Given the description of an element on the screen output the (x, y) to click on. 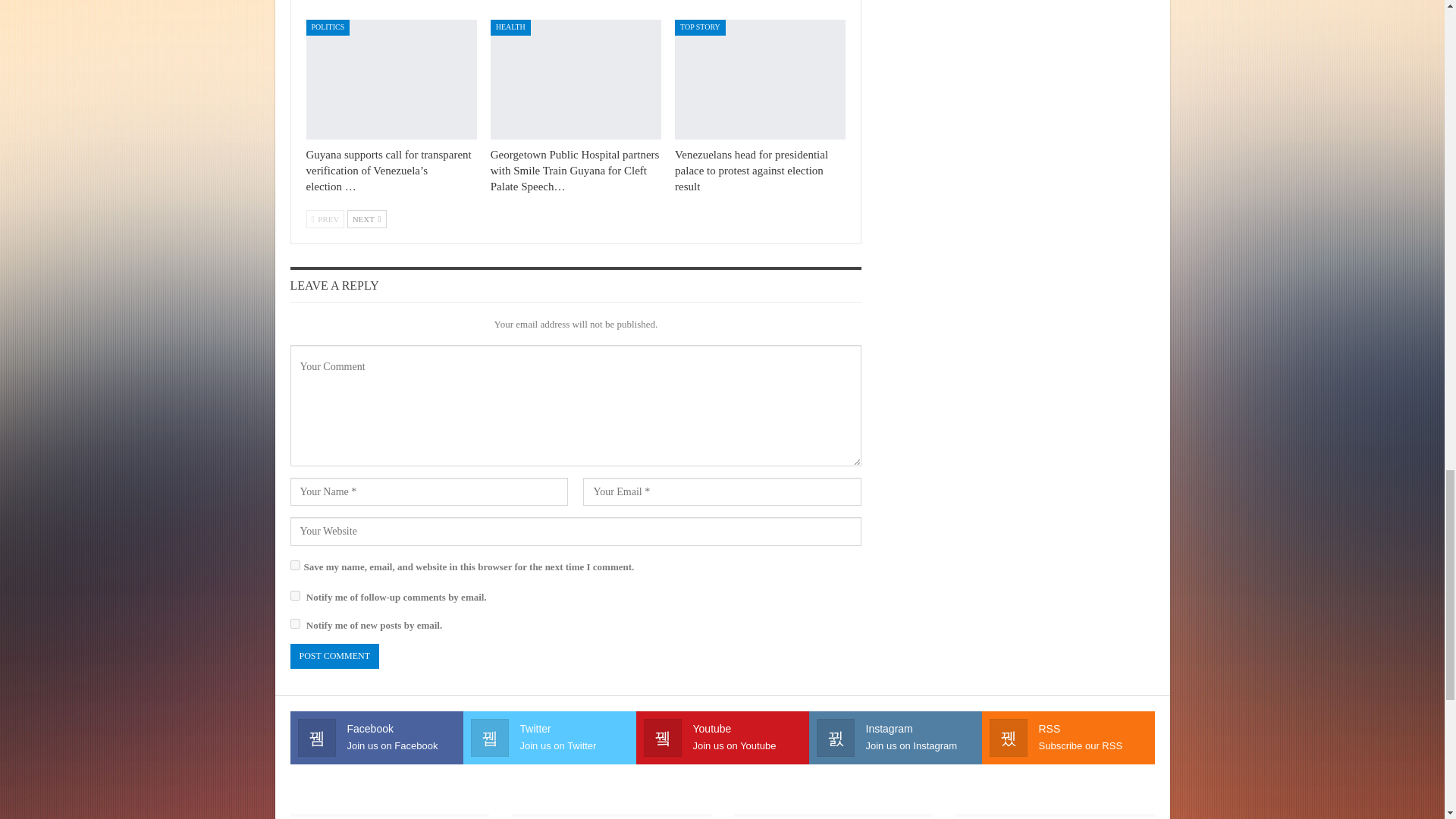
yes (294, 565)
Post Comment (333, 656)
subscribe (294, 623)
subscribe (294, 595)
